Given the description of an element on the screen output the (x, y) to click on. 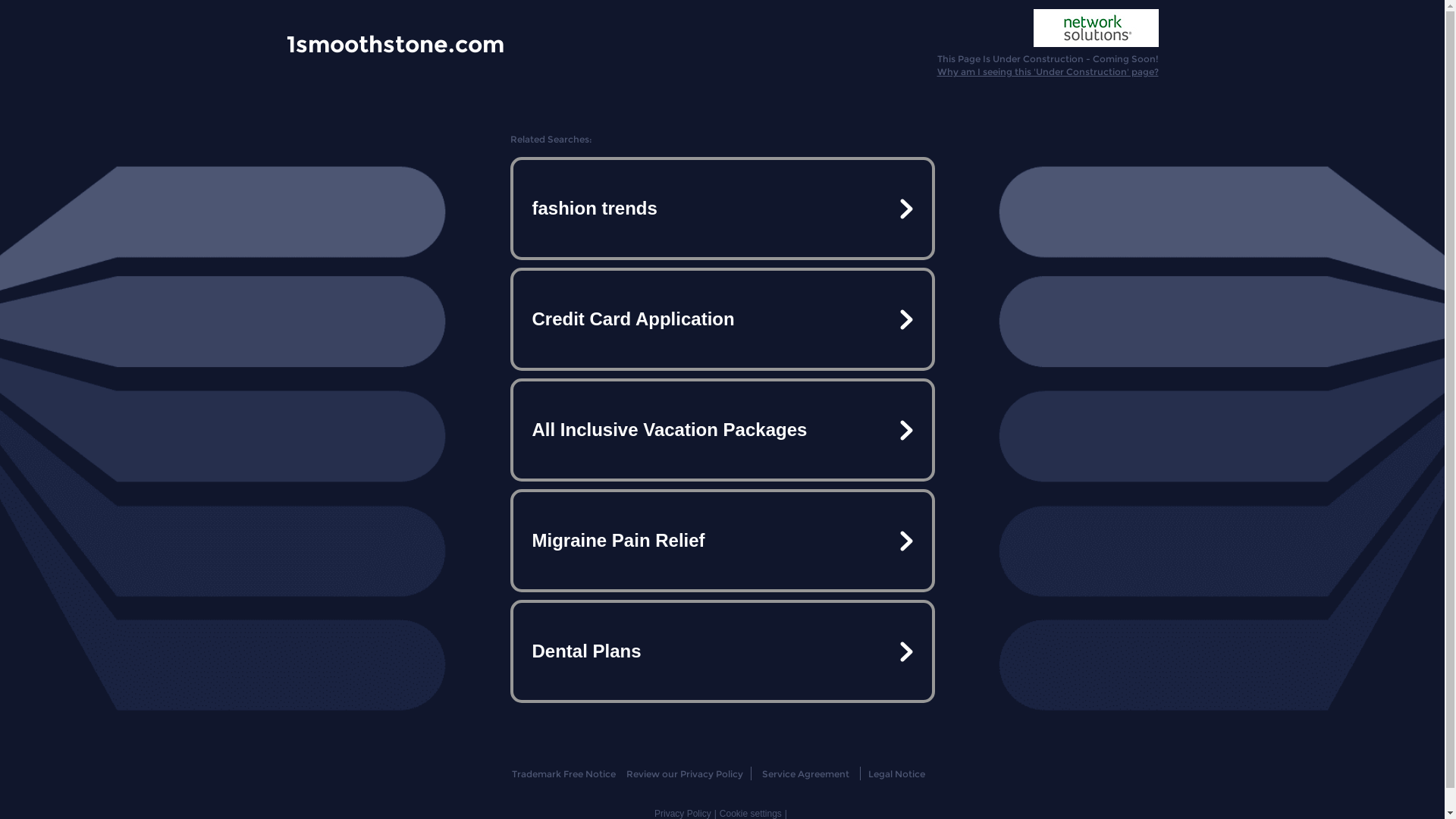
1smoothstone.com Element type: text (395, 43)
Legal Notice Element type: text (896, 773)
Dental Plans Element type: text (721, 650)
Why am I seeing this 'Under Construction' page? Element type: text (1047, 71)
fashion trends Element type: text (721, 208)
All Inclusive Vacation Packages Element type: text (721, 429)
Credit Card Application Element type: text (721, 318)
Migraine Pain Relief Element type: text (721, 540)
Service Agreement Element type: text (805, 773)
Trademark Free Notice Element type: text (563, 773)
Review our Privacy Policy Element type: text (684, 773)
